Given the description of an element on the screen output the (x, y) to click on. 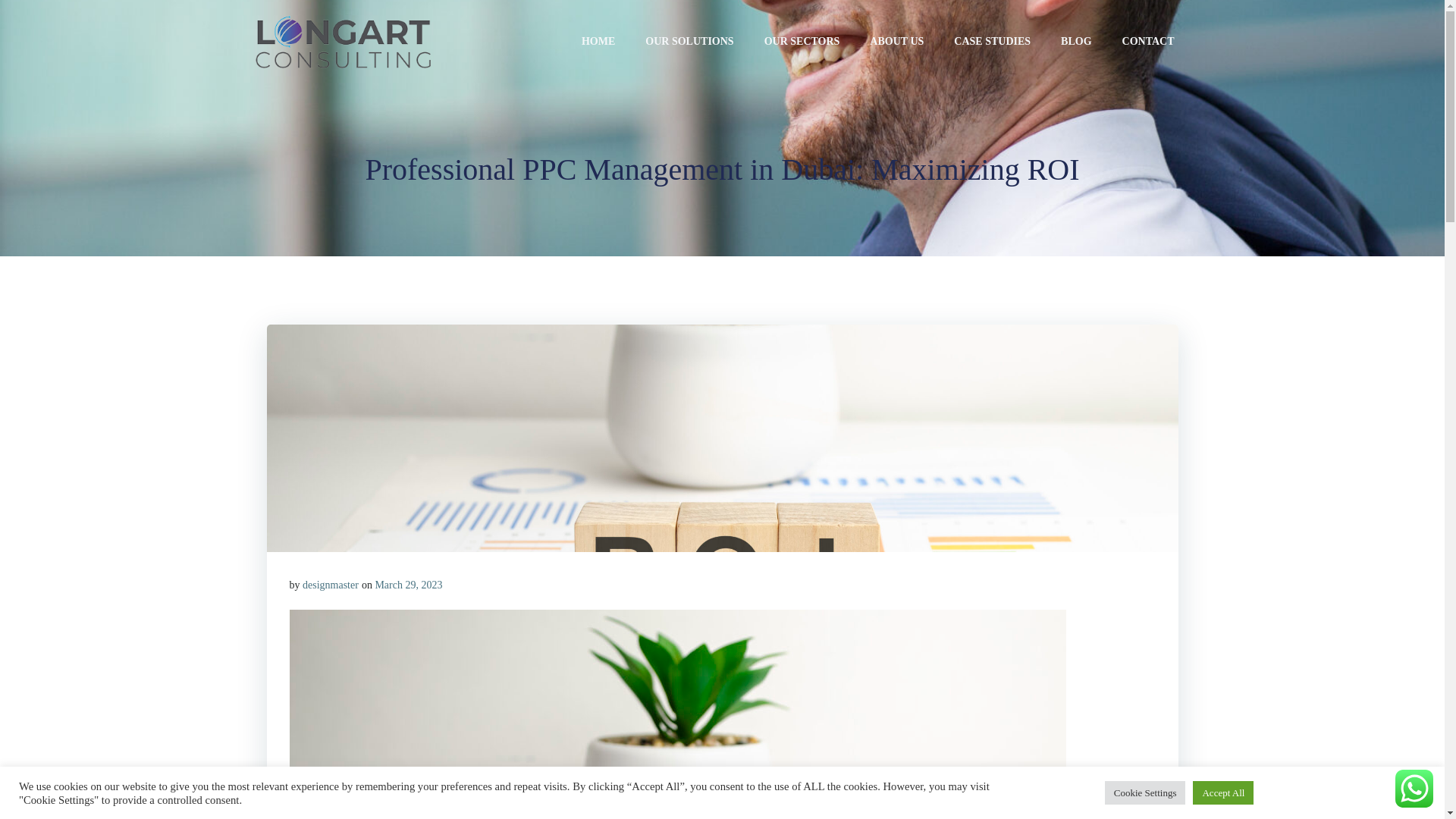
CONTACT (1148, 42)
ABOUT US (896, 43)
March 29, 2023 (408, 584)
CASE STUDIES (991, 43)
designmaster (330, 584)
OUR SOLUTIONS (689, 44)
HOME (597, 45)
Accept All (1222, 792)
Cookie Settings (1145, 792)
OUR SECTORS (802, 44)
BLOG (1075, 42)
